Given the description of an element on the screen output the (x, y) to click on. 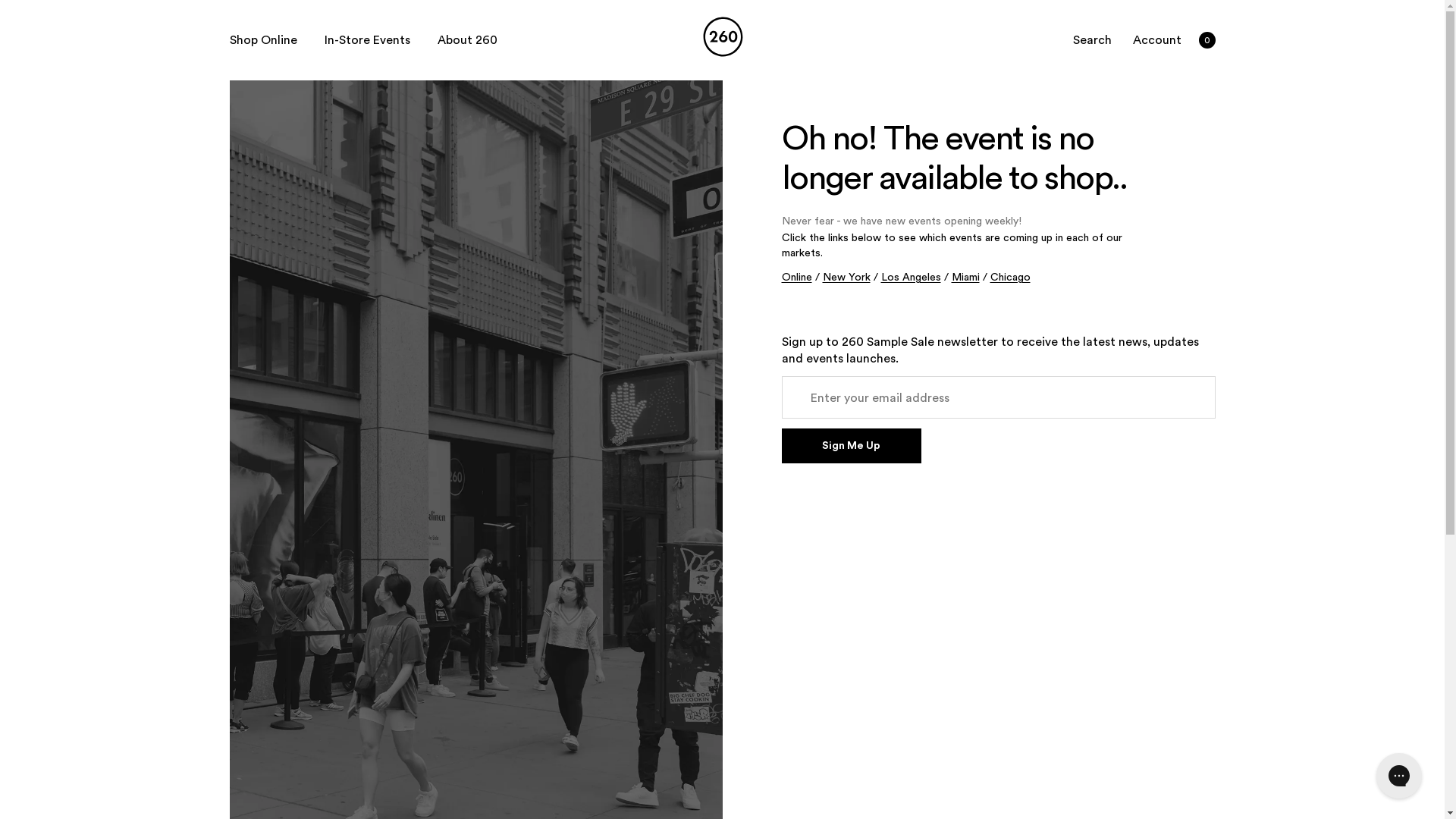
Online Element type: text (796, 277)
Search Element type: text (1093, 40)
In-Store Events Element type: text (367, 39)
Shop Online Element type: text (262, 39)
Sign Me Up Element type: text (850, 445)
Account Element type: text (1157, 40)
Chicago Element type: text (1010, 277)
Shopping cart
0 Element type: text (1206, 39)
Gorgias live chat messenger Element type: hover (1398, 775)
Los Angeles Element type: text (911, 277)
About 260 Element type: text (466, 39)
Ready to Checkout Element type: text (151, 17)
Miami Element type: text (964, 277)
New York Element type: text (845, 277)
